Given the description of an element on the screen output the (x, y) to click on. 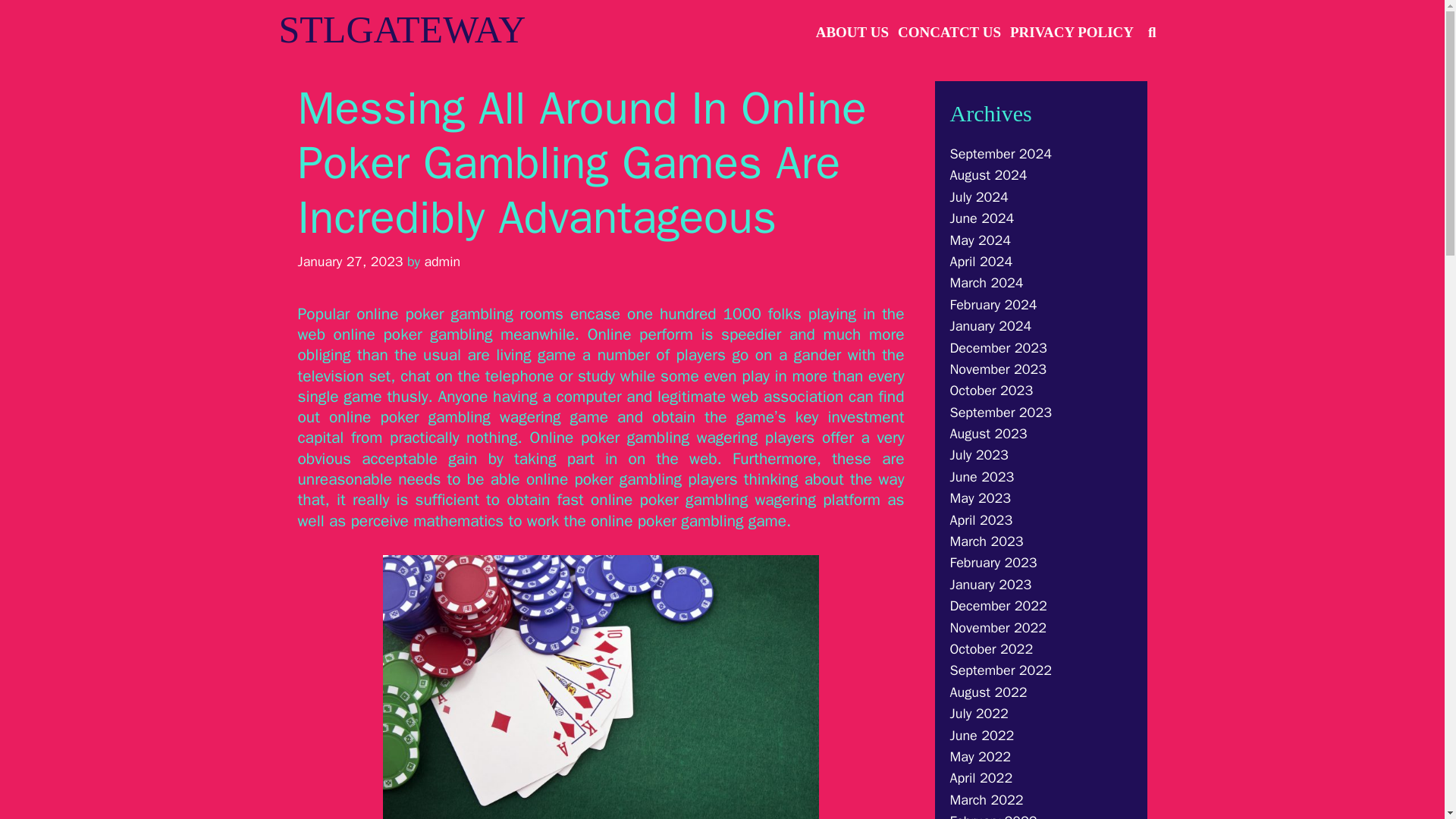
11:59 am (350, 261)
November 2023 (997, 369)
October 2022 (990, 648)
April 2024 (980, 261)
January 2024 (989, 325)
January 2023 (989, 584)
September 2022 (1000, 669)
February 2024 (992, 304)
August 2023 (987, 433)
August 2024 (987, 175)
